Given the description of an element on the screen output the (x, y) to click on. 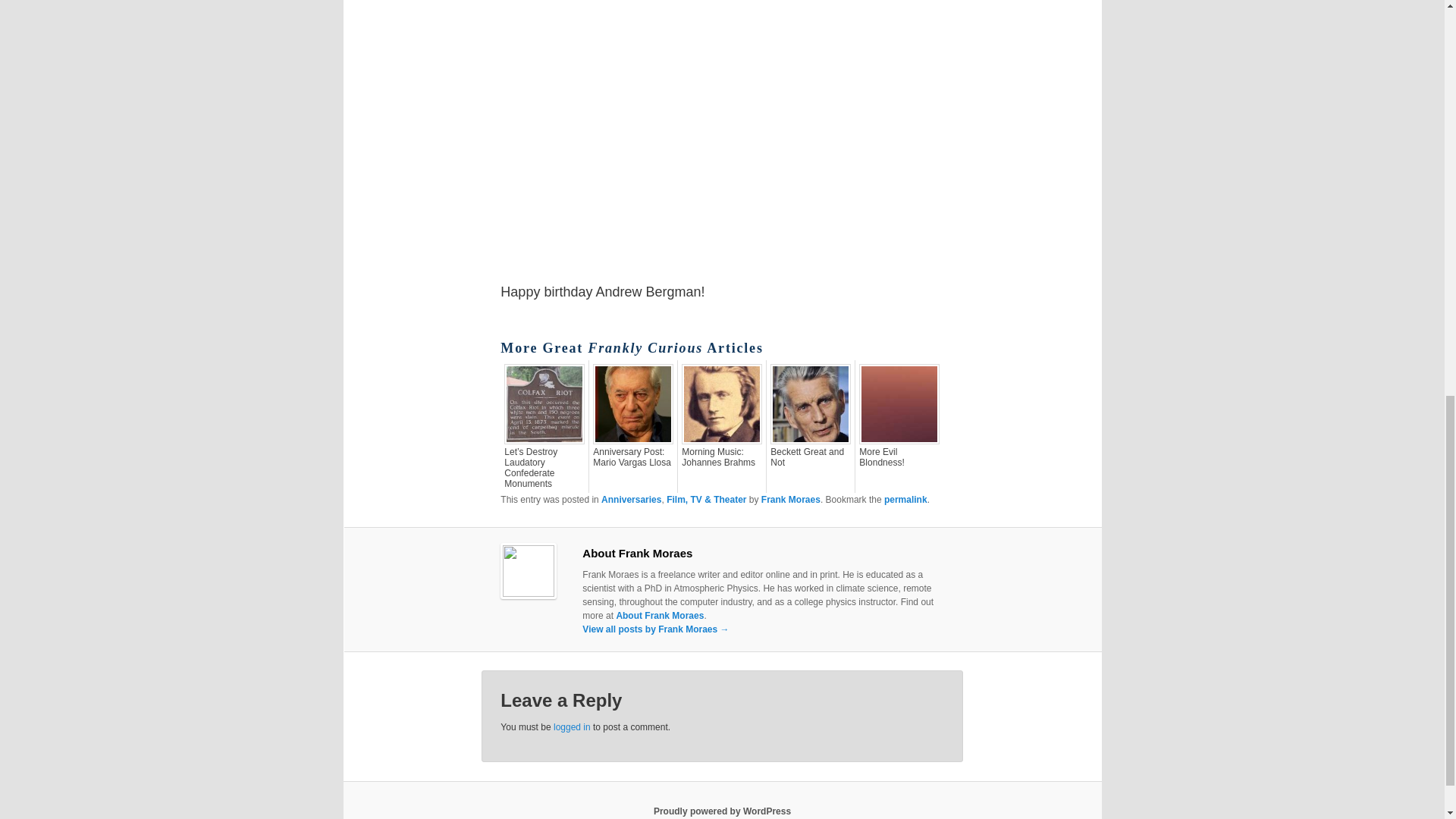
Morning Music: Johannes Brahms (721, 456)
Anniversary Post: Mario Vargas Llosa (632, 456)
Semantic Personal Publishing Platform (721, 810)
More Evil Blondness! (899, 456)
Frank Moraes (791, 499)
Beckett Great and Not (810, 456)
Anniversaries (631, 499)
permalink (905, 499)
Permalink to Andrew Bergman (905, 499)
